Given the description of an element on the screen output the (x, y) to click on. 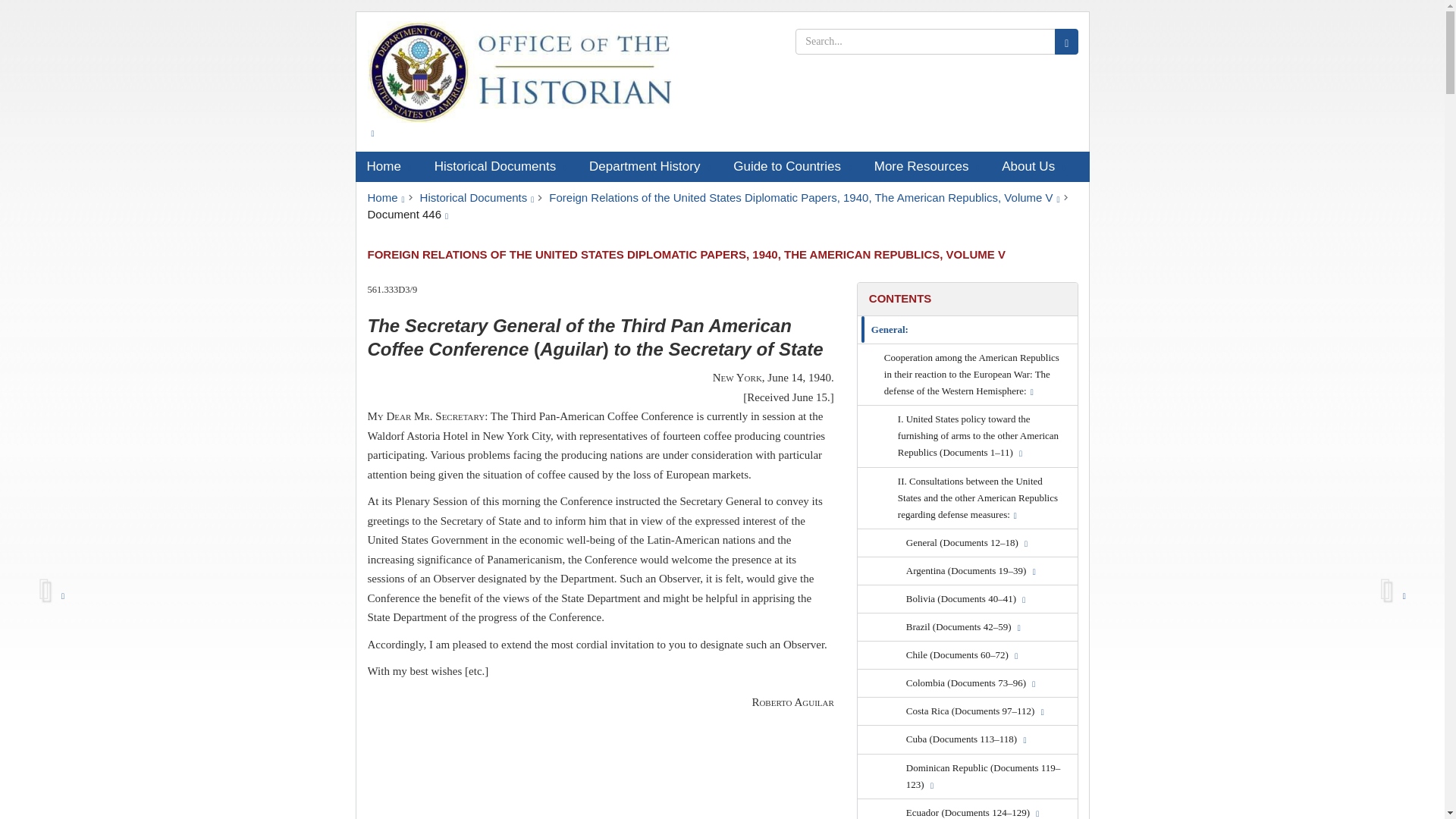
Historical Documents (500, 166)
Department History (650, 166)
Document 446 (407, 214)
Historical Documents (477, 196)
Home (385, 196)
Guide to Countries (792, 166)
More Resources (926, 166)
About Us (1033, 166)
Home (388, 166)
